Given the description of an element on the screen output the (x, y) to click on. 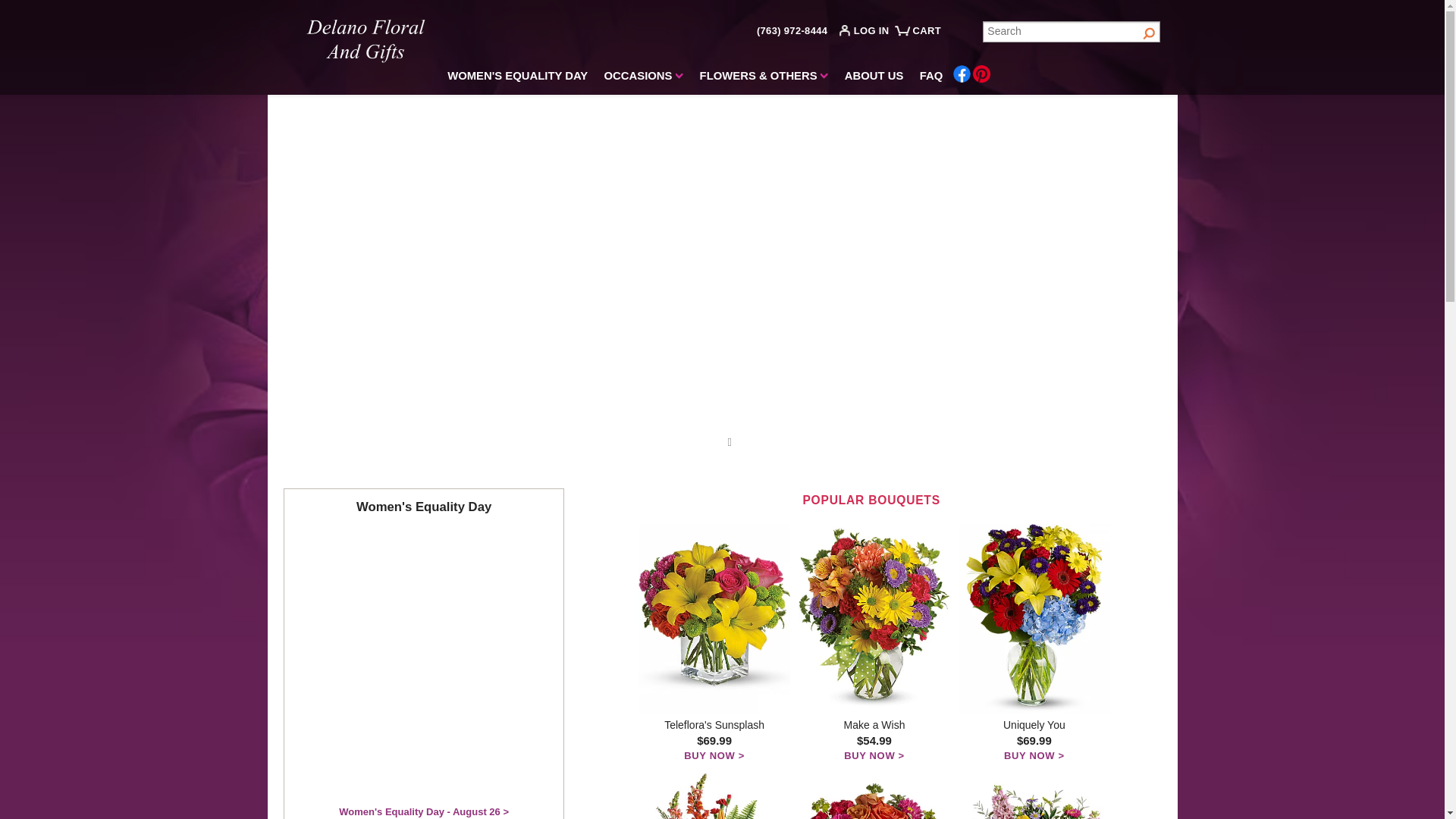
Search (1071, 31)
WOMEN'S EQUALITY DAY (518, 78)
LOG IN (867, 33)
CART (919, 36)
Go (1149, 32)
OCCASIONS (643, 78)
FAQ (930, 78)
ABOUT US (873, 78)
log In (867, 33)
